Given the description of an element on the screen output the (x, y) to click on. 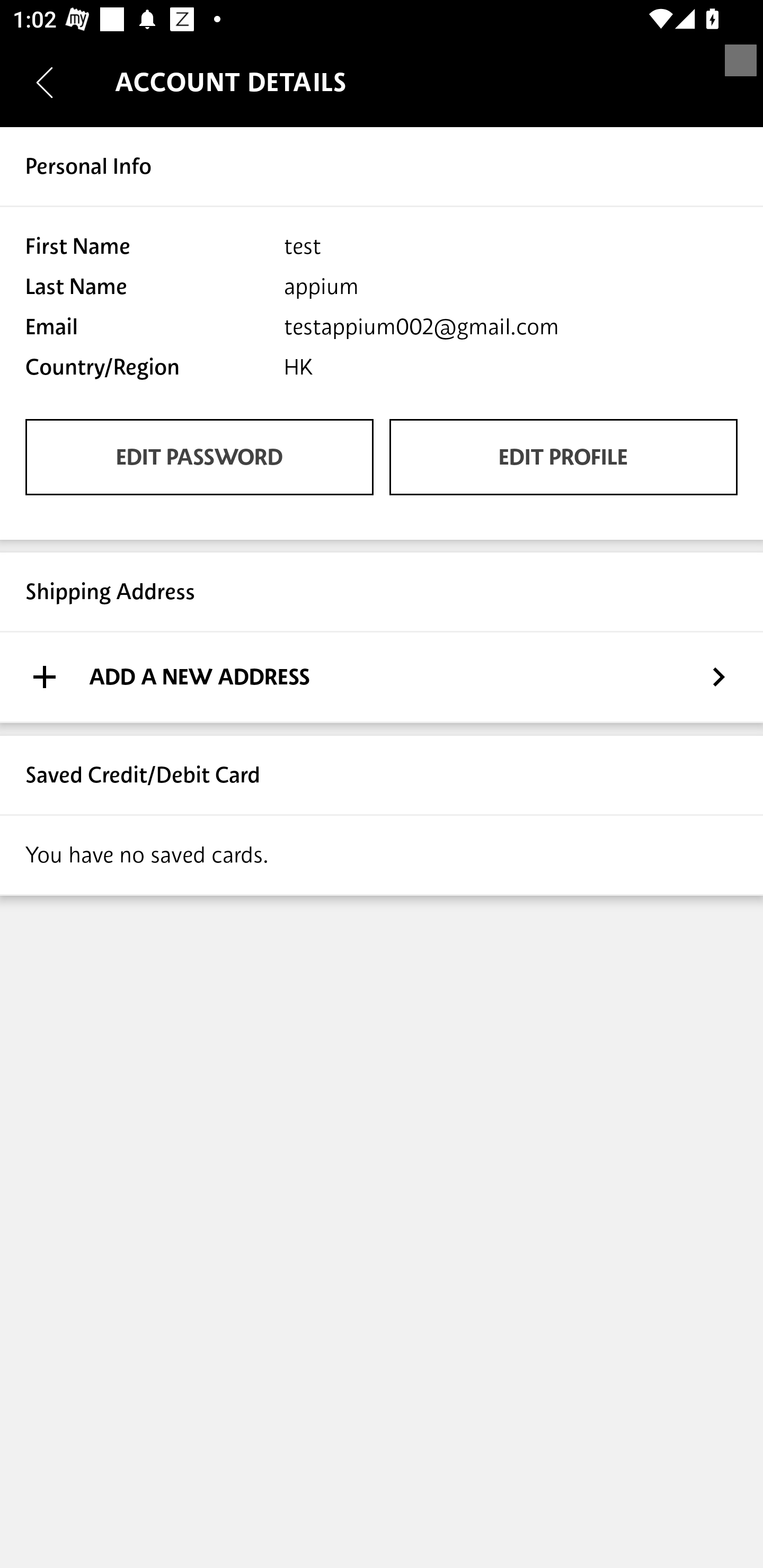
Navigate up (44, 82)
EDIT PASSWORD (199, 456)
EDIT PROFILE (563, 456)
ADD A NEW ADDRESS (381, 676)
